Given the description of an element on the screen output the (x, y) to click on. 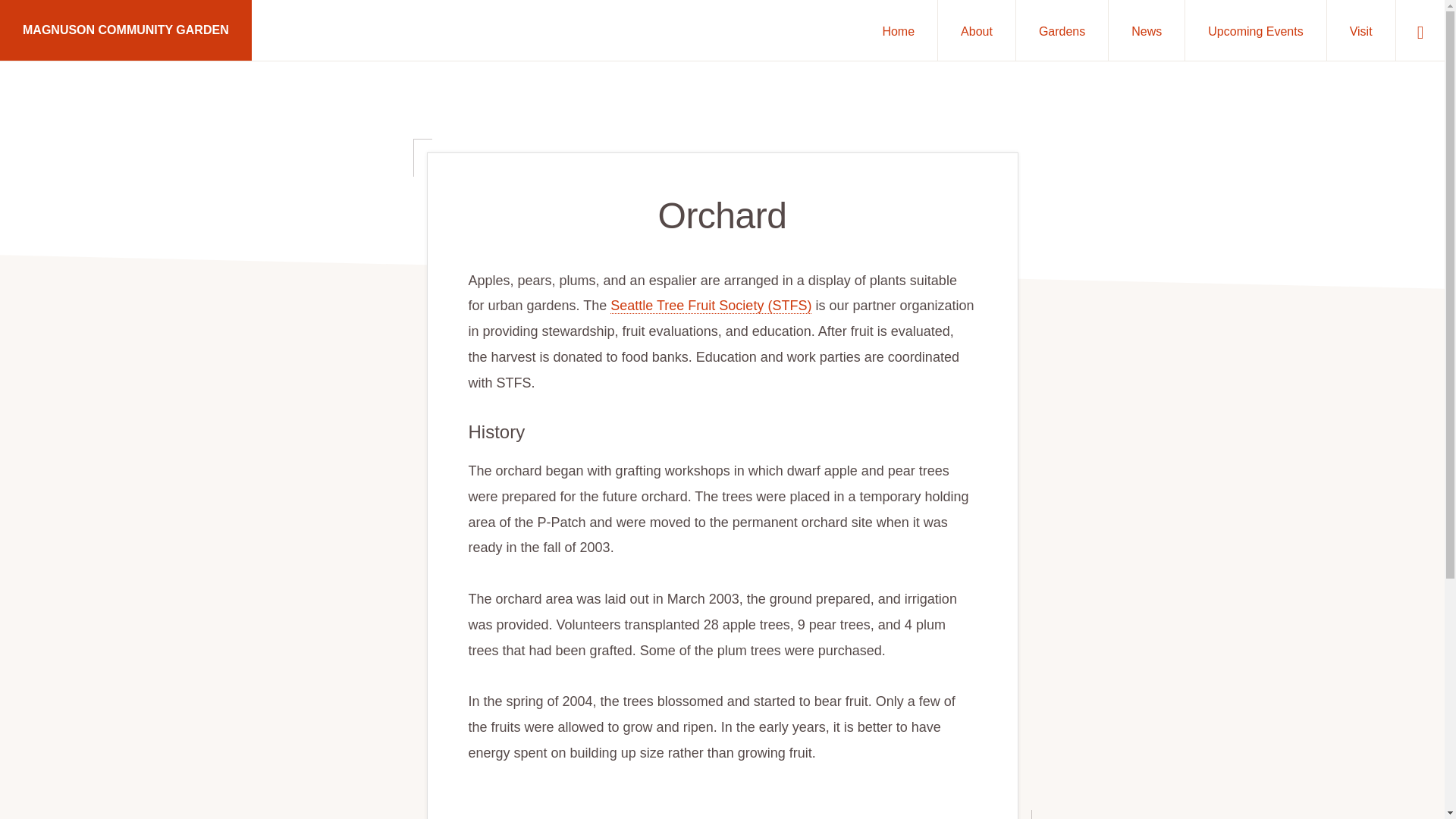
Home (898, 30)
WordPress (553, 733)
News (1146, 30)
Log in (599, 733)
Upcoming Events (1254, 30)
Genesis Framework (477, 733)
MAGNUSON COMMUNITY GARDEN (125, 30)
About (975, 30)
CONTACT (292, 775)
